Given the description of an element on the screen output the (x, y) to click on. 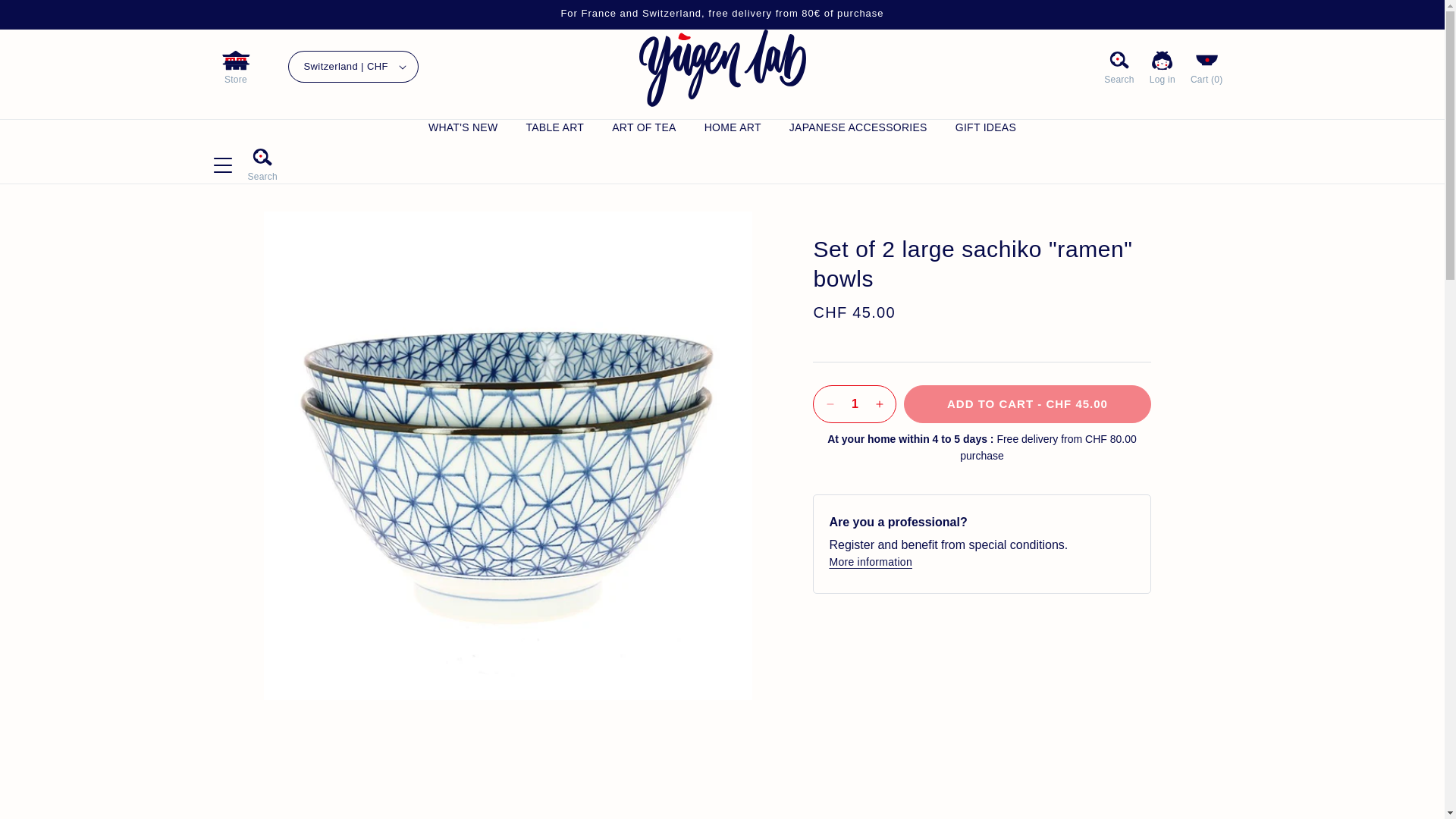
SKIP TO CONTENT (22, 11)
1 (854, 404)
